Given the description of an element on the screen output the (x, y) to click on. 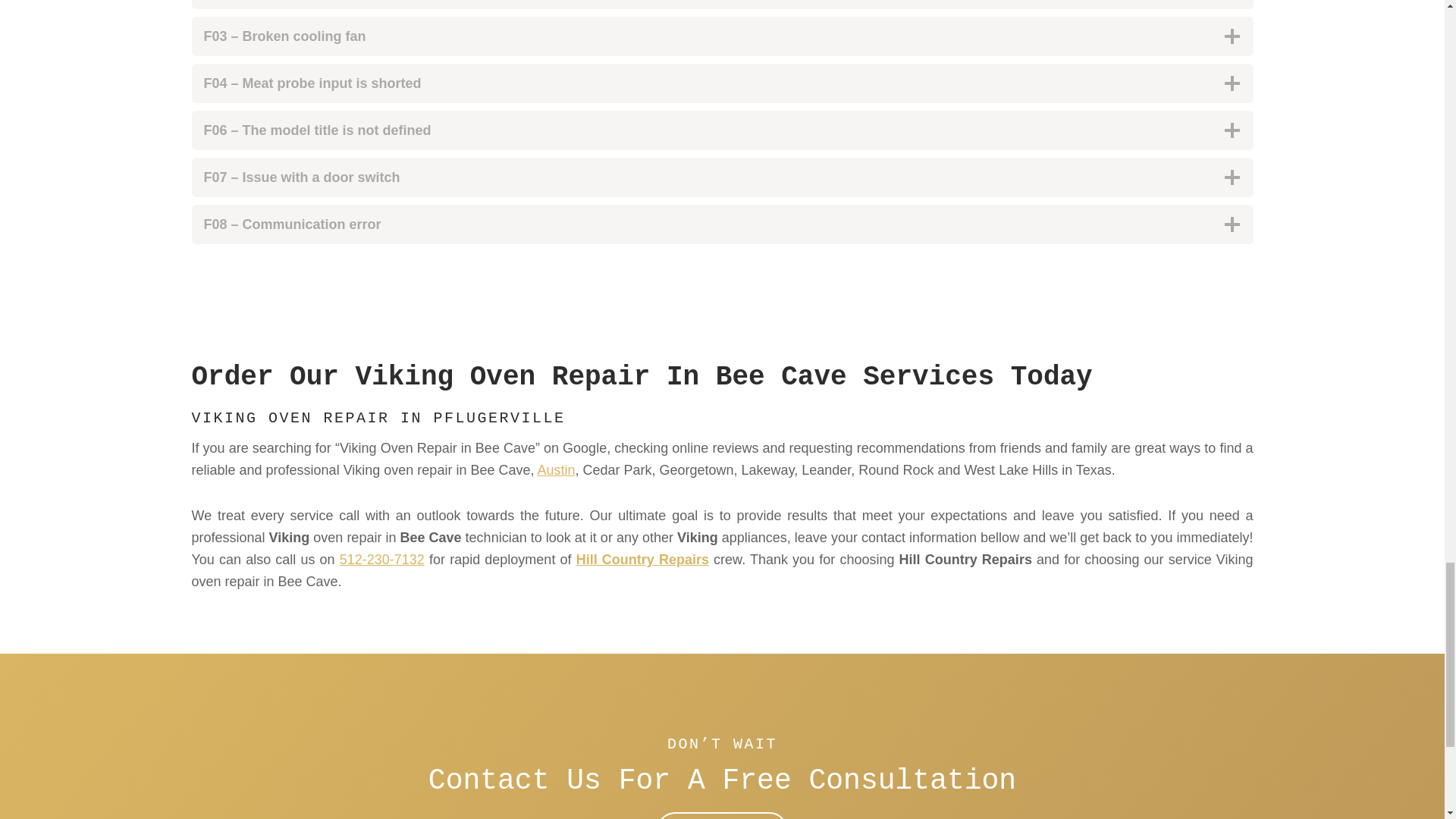
Hill Country Repairs (642, 559)
Austin (556, 469)
512-230-7132 (382, 559)
